Given the description of an element on the screen output the (x, y) to click on. 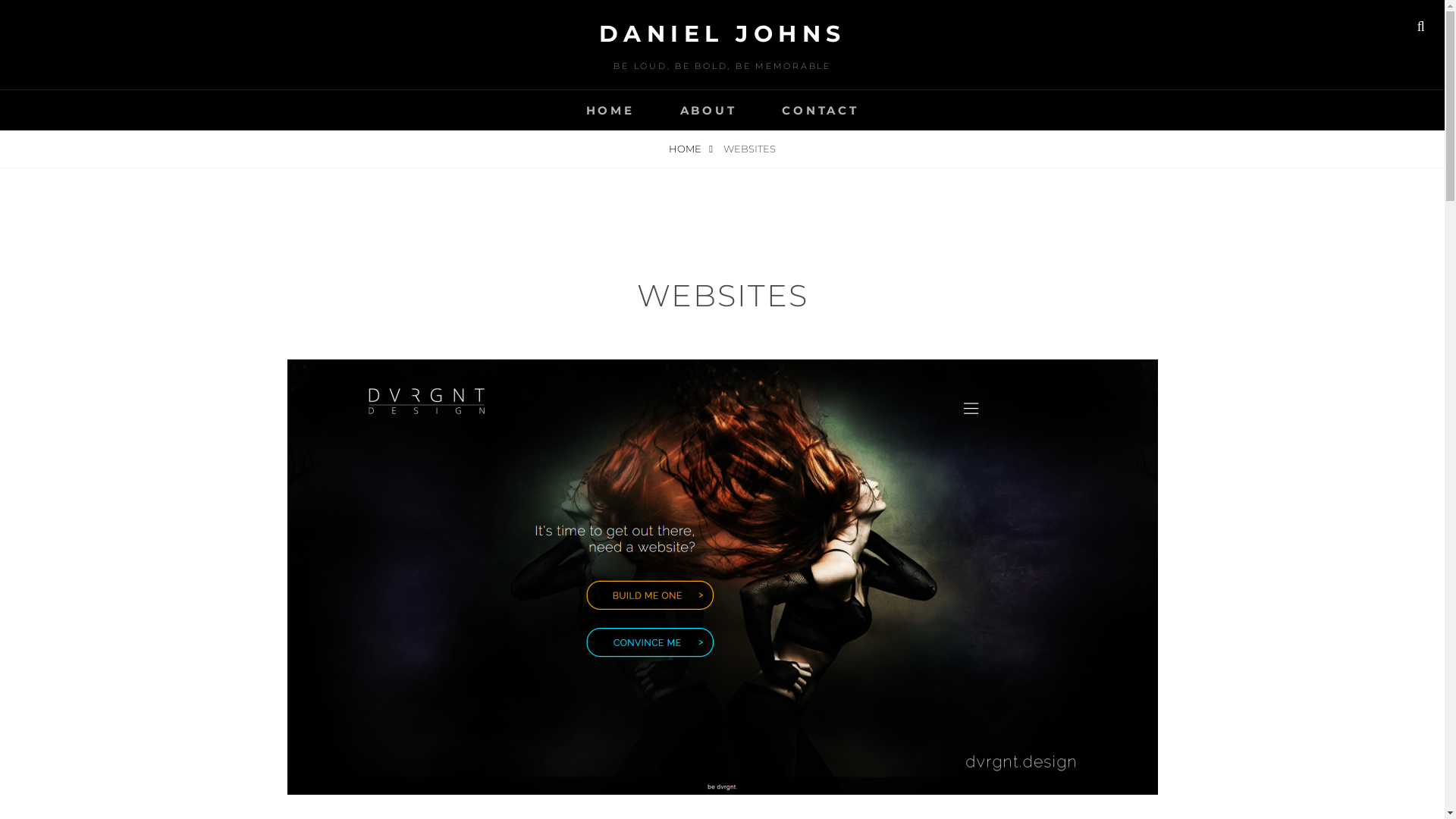
SEARCH Element type: text (1420, 26)
CONTACT Element type: text (819, 110)
ABOUT Element type: text (707, 110)
HOME Element type: text (609, 110)
DANIEL JOHNS Element type: text (722, 33)
HOME Element type: text (690, 148)
